Given the description of an element on the screen output the (x, y) to click on. 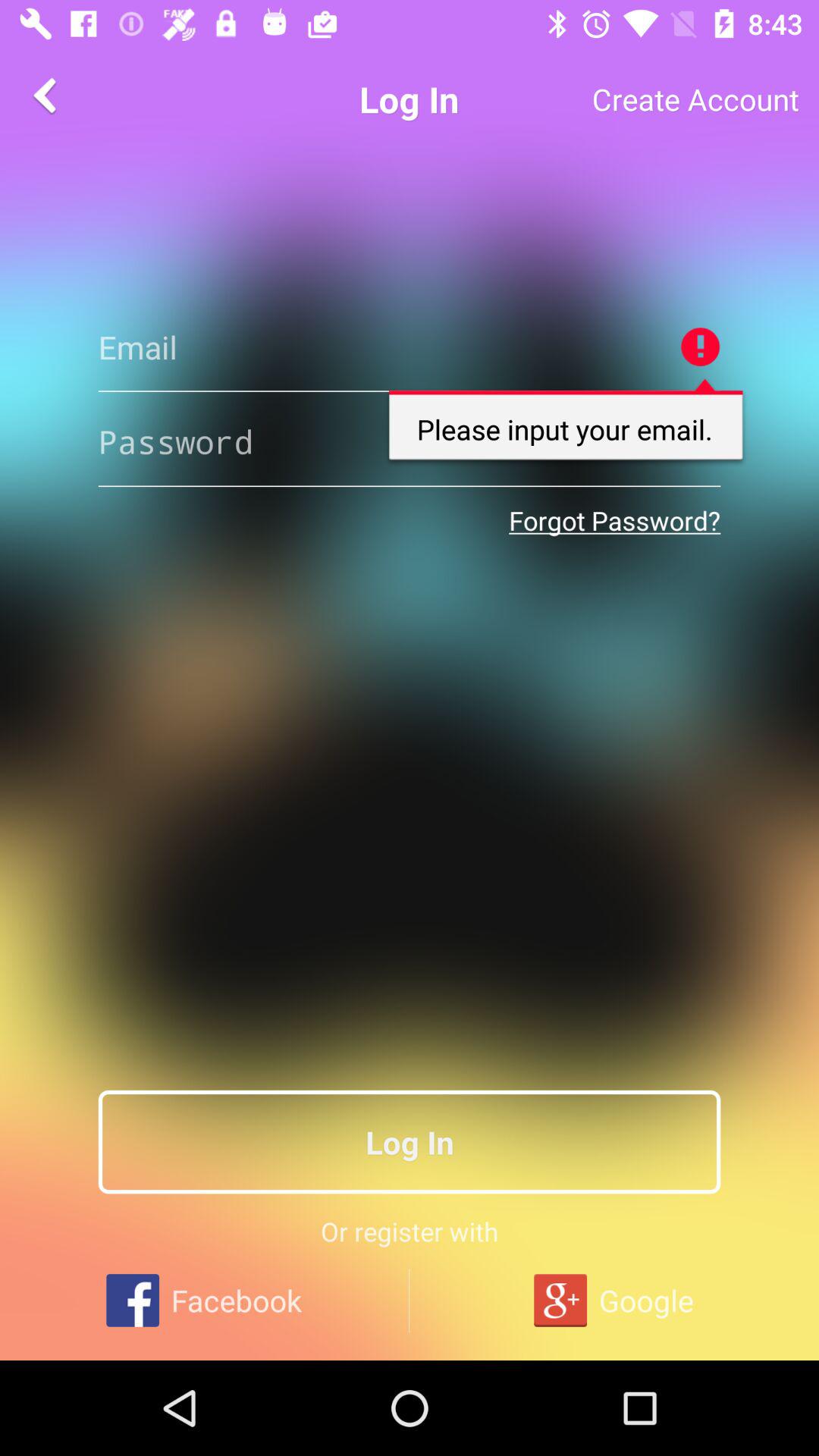
enter password (409, 441)
